Given the description of an element on the screen output the (x, y) to click on. 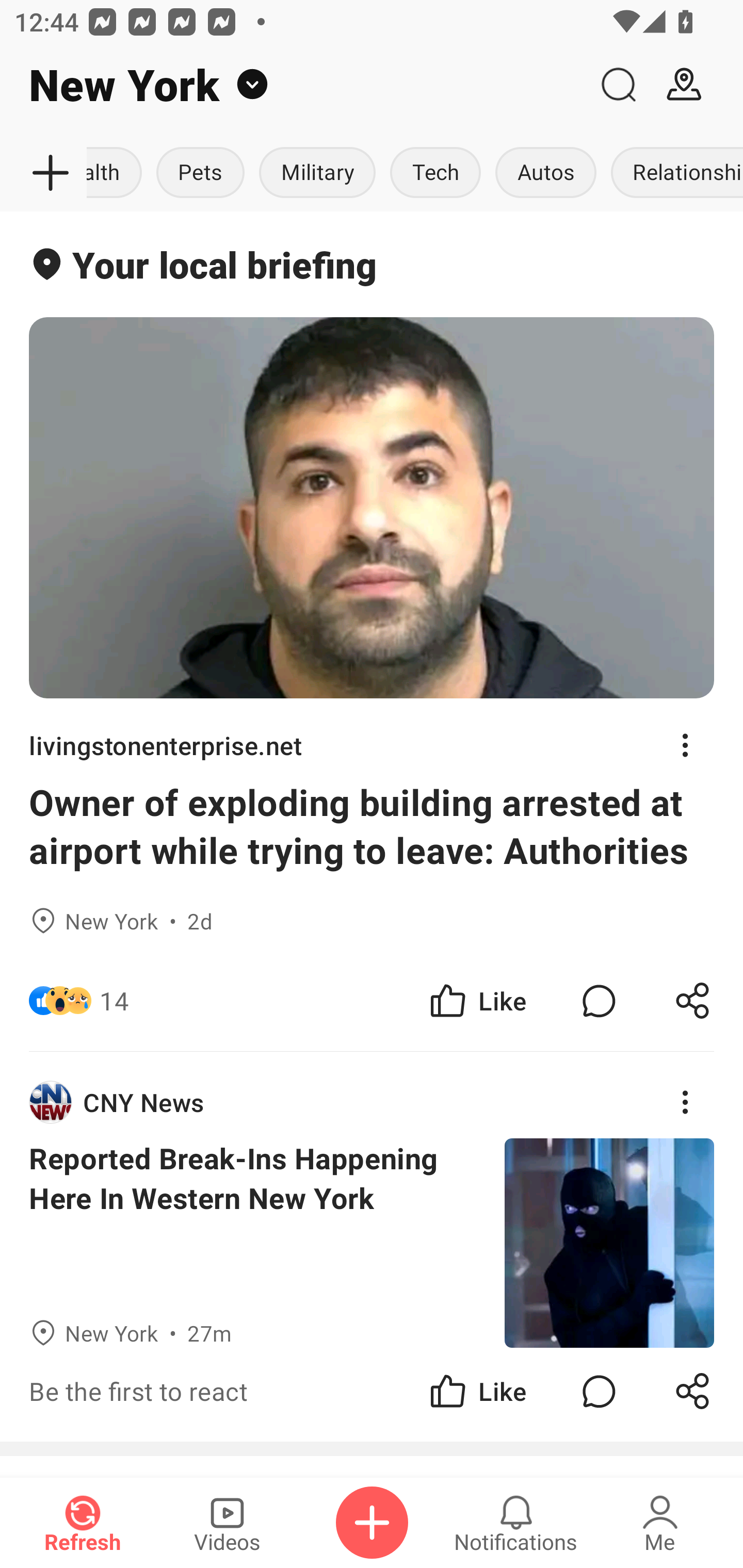
New York (292, 84)
Pets (200, 172)
Military (316, 172)
Tech (435, 172)
Autos (545, 172)
Relationships (673, 172)
14 (114, 1001)
Like (476, 1001)
Be the first to react (244, 1391)
Like (476, 1391)
Videos (227, 1522)
Notifications (516, 1522)
Me (659, 1522)
